Given the description of an element on the screen output the (x, y) to click on. 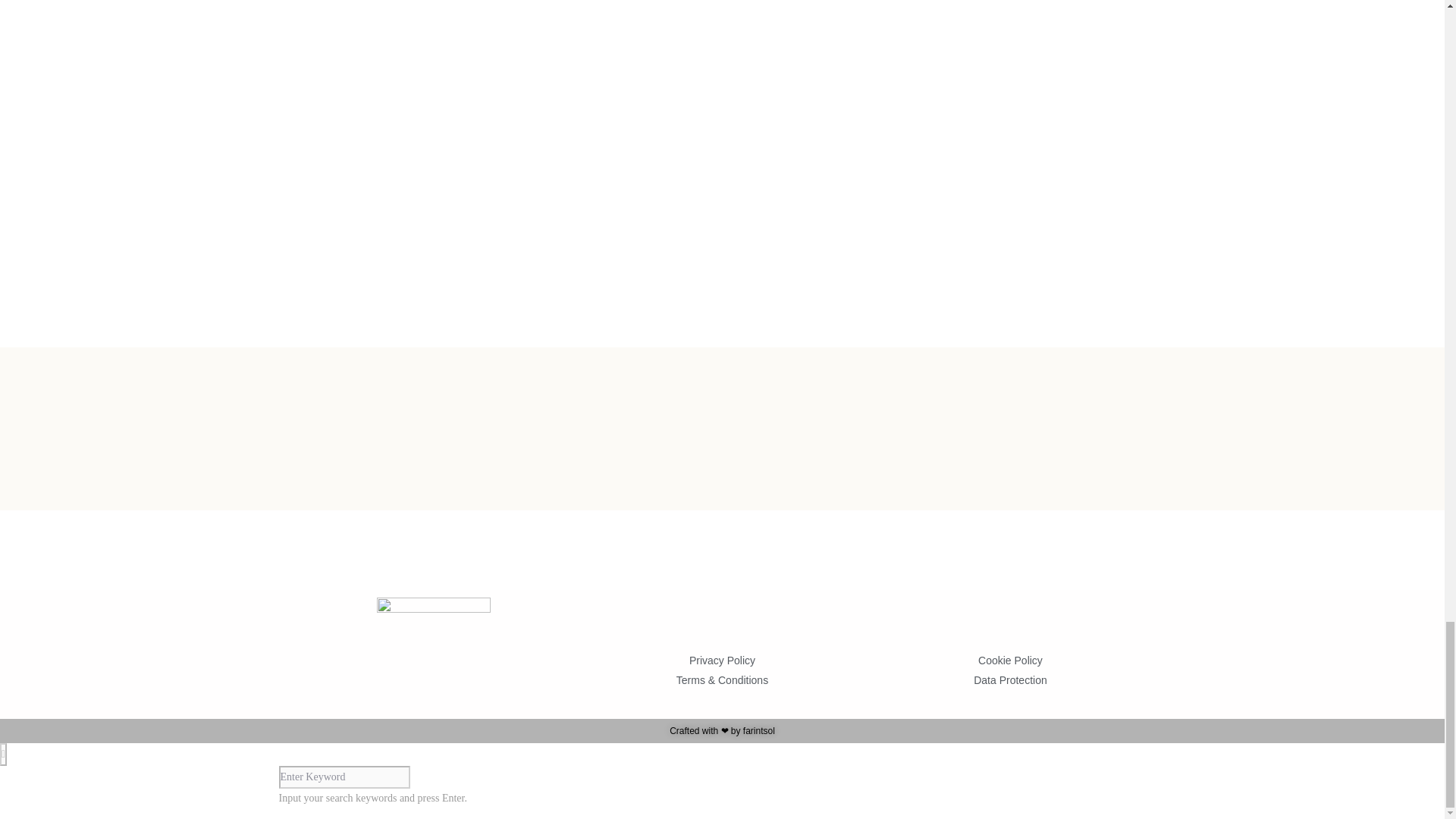
Privacy Policy (722, 660)
Data Protection (1010, 680)
Cookie Policy (1010, 660)
